Given the description of an element on the screen output the (x, y) to click on. 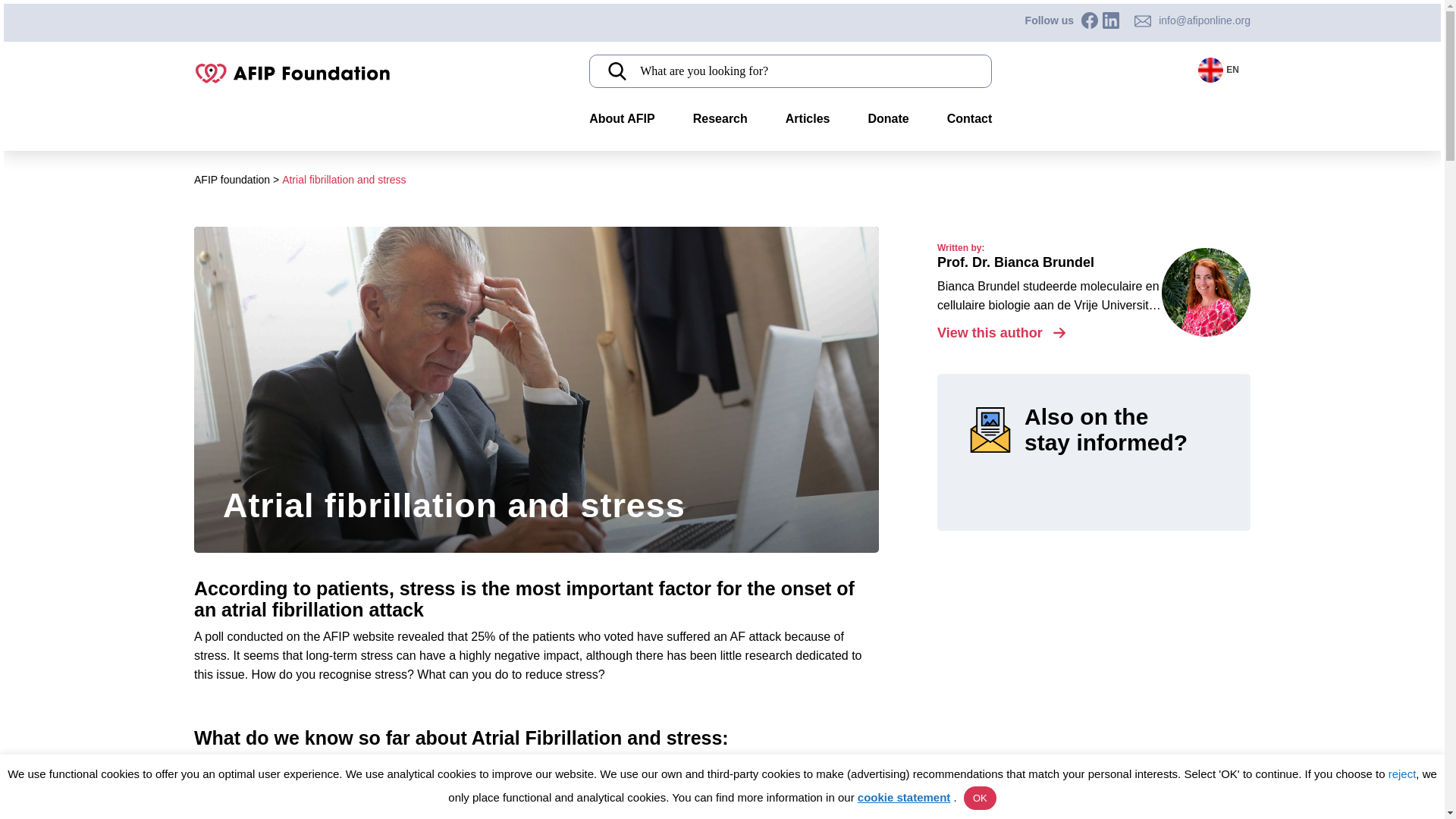
Go to AFIP foundation. (231, 179)
Search (201, 22)
AFIP foundation (231, 179)
icon-facebook-dark-grey (1089, 20)
About AFIP (622, 118)
EN (1220, 70)
icon-linkedin-dark-grey (1110, 20)
View this author (1001, 332)
